Given the description of an element on the screen output the (x, y) to click on. 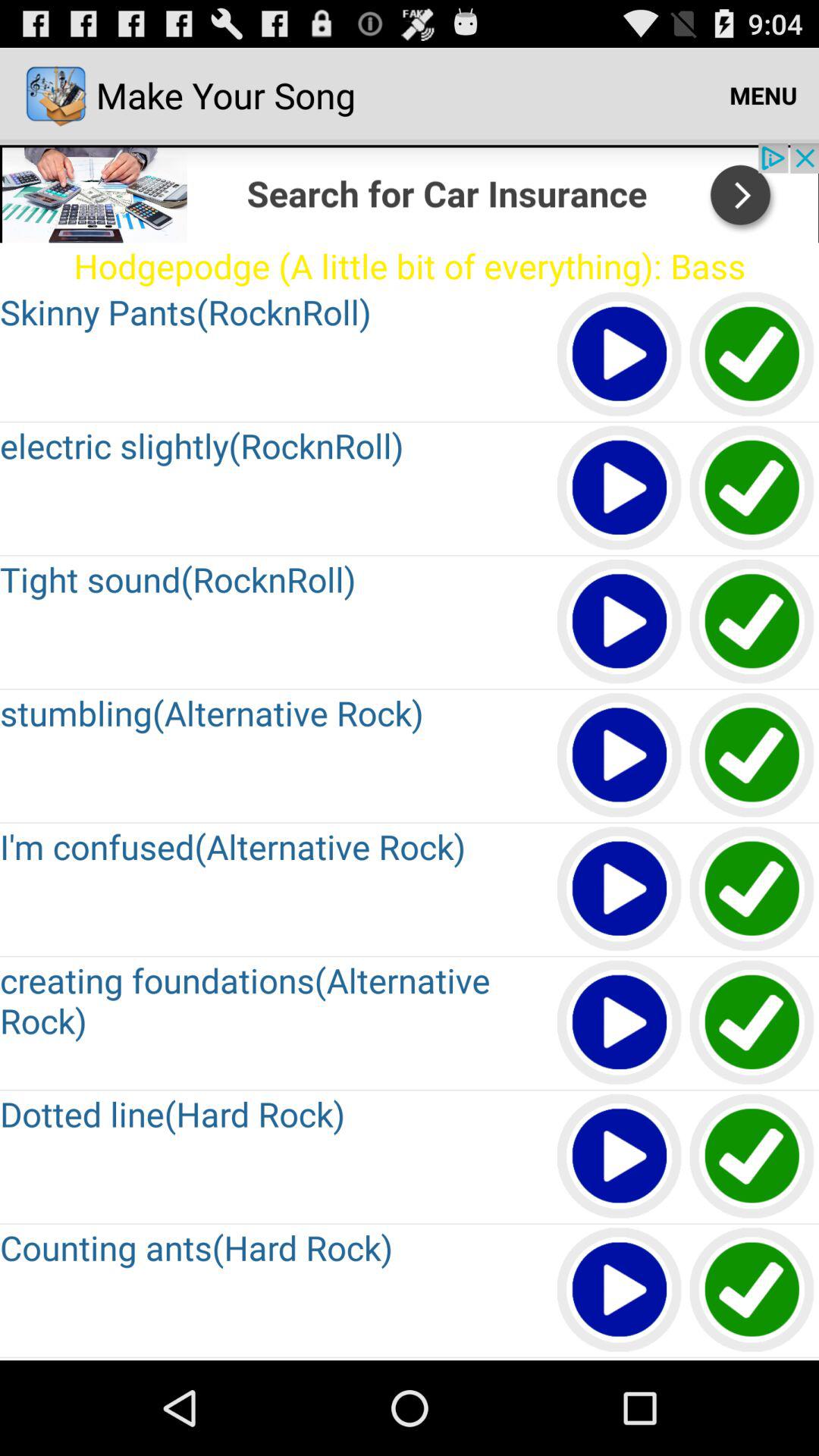
select car insurance option (752, 889)
